Given the description of an element on the screen output the (x, y) to click on. 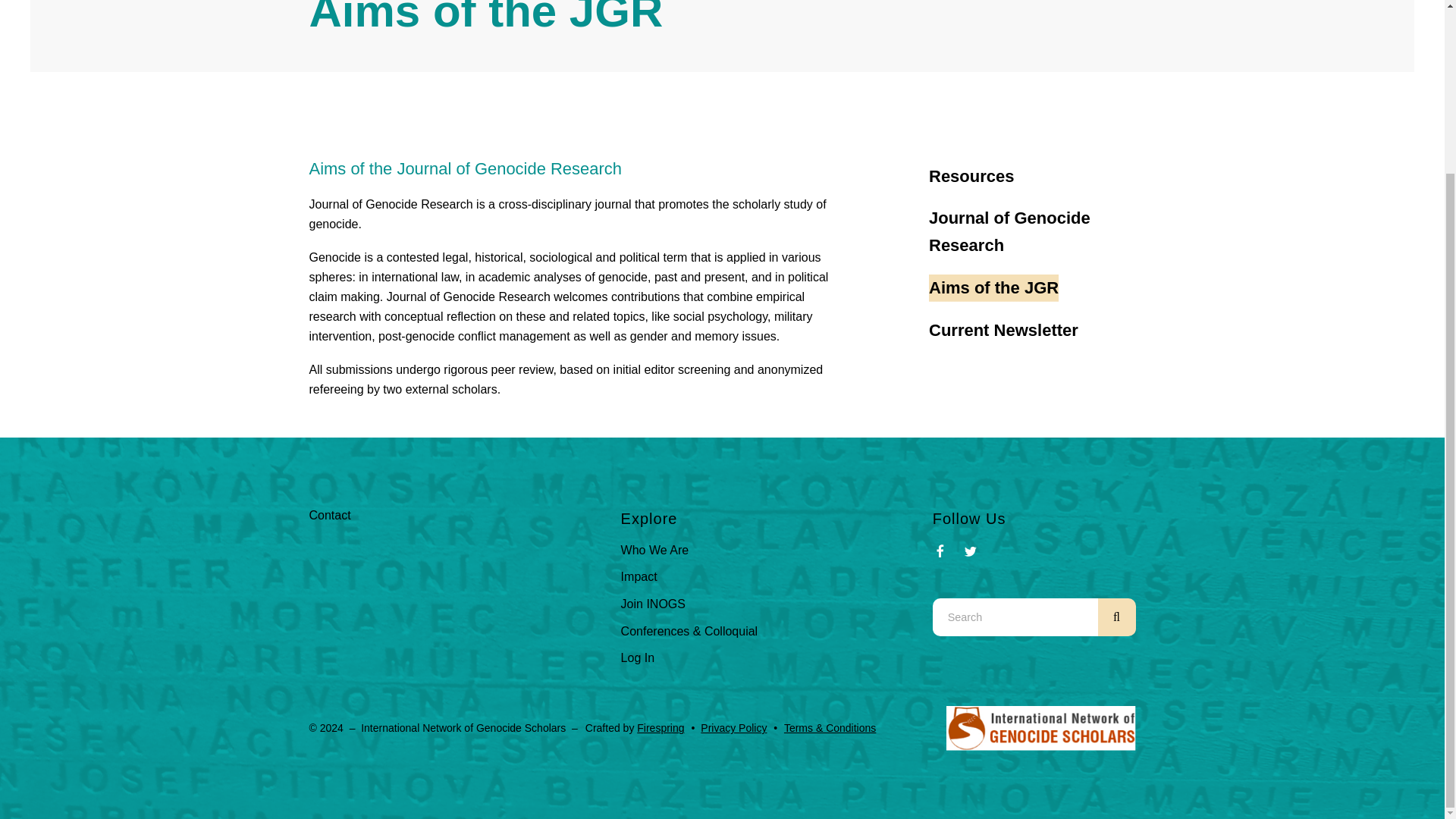
Who We Are (654, 549)
Resources (971, 176)
Impact (639, 576)
Privacy Policy (733, 727)
search (1116, 617)
Join INOGS (653, 603)
search (1116, 617)
Log In (637, 657)
Aims of the JGR (993, 288)
Current Newsletter (1003, 329)
logo (1040, 728)
Journal of Genocide Research (1031, 231)
Firespring (660, 727)
Contact (329, 514)
